Given the description of an element on the screen output the (x, y) to click on. 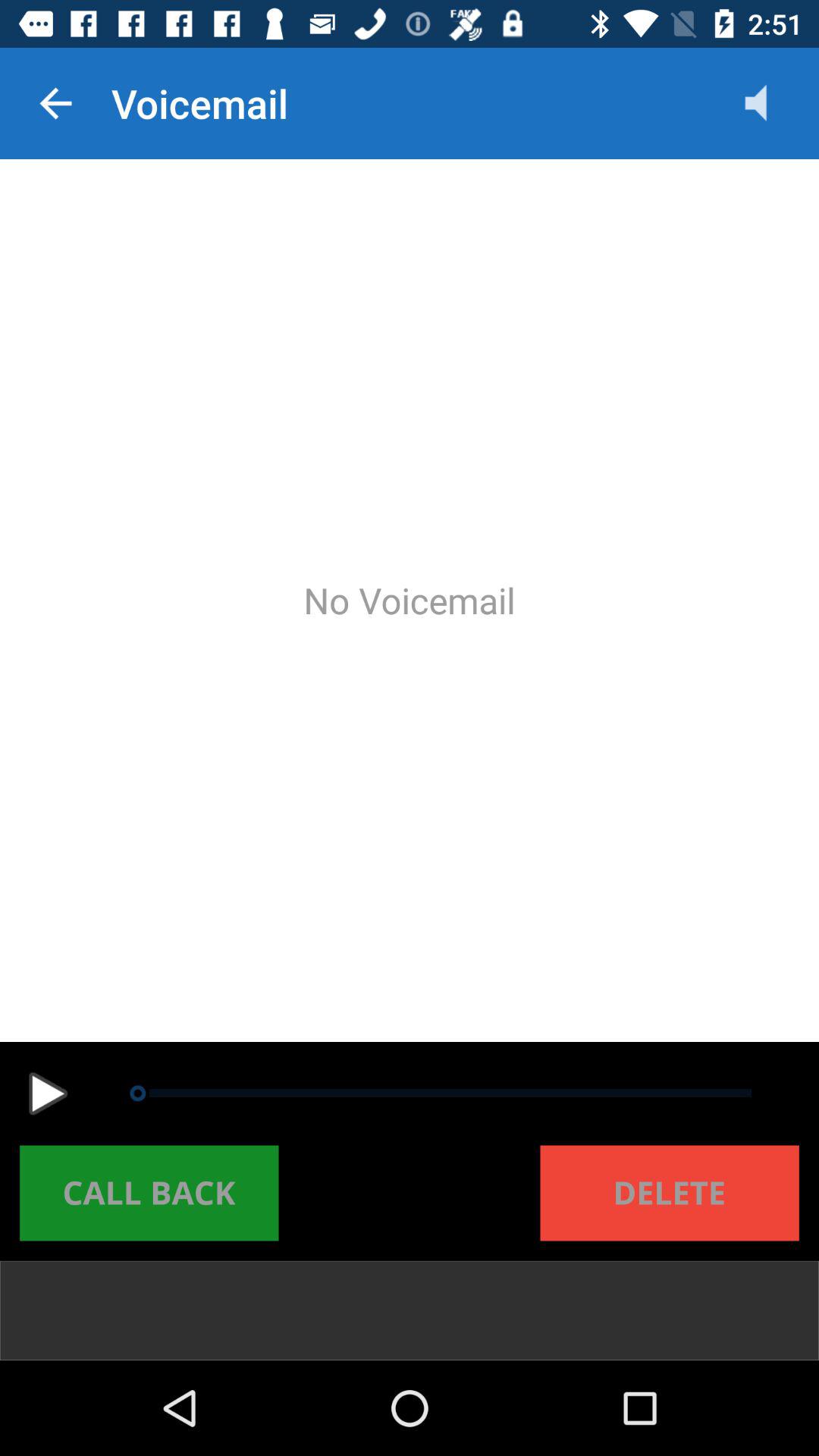
play voicemail (47, 1093)
